Given the description of an element on the screen output the (x, y) to click on. 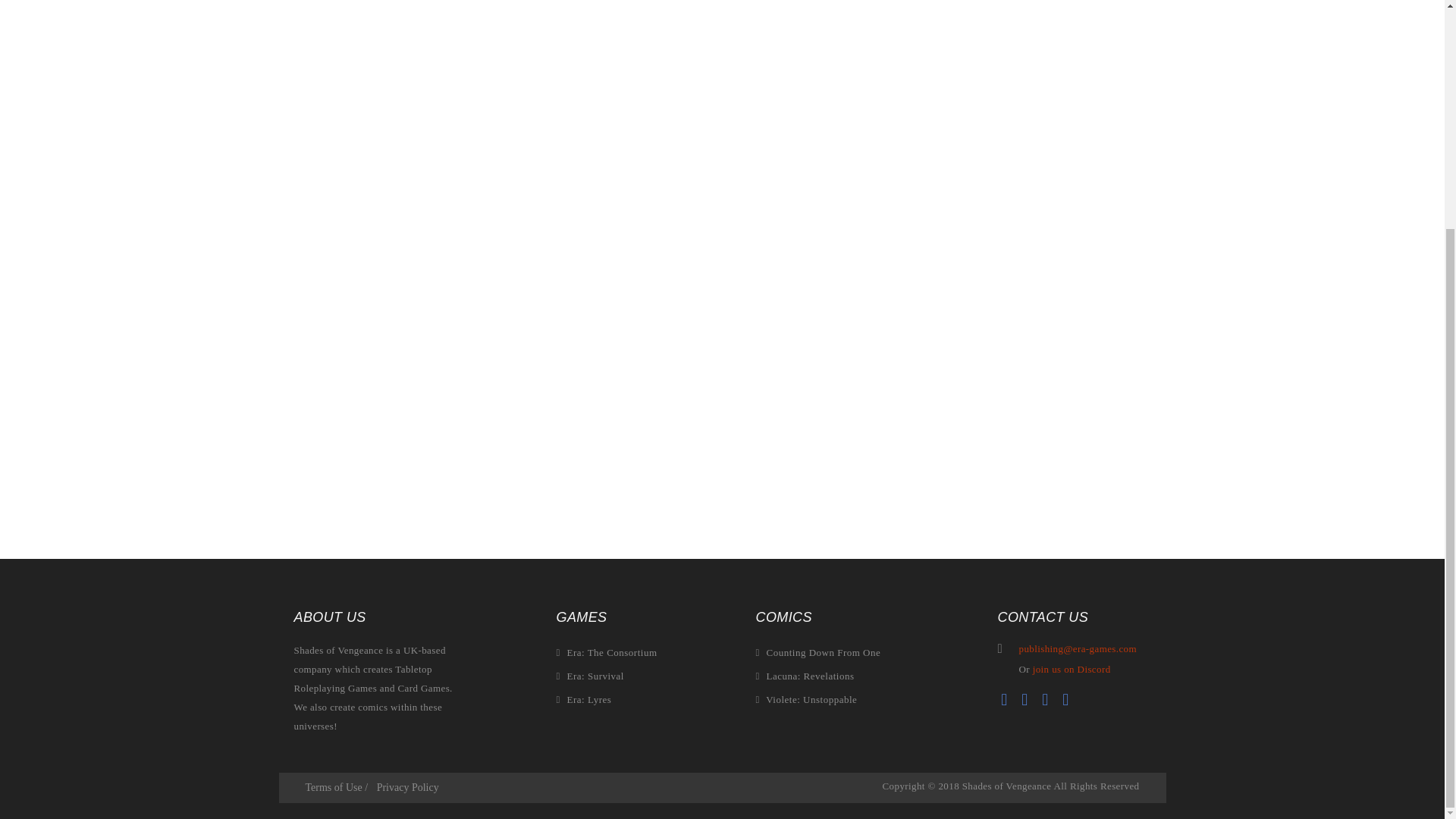
join us on Discord (1071, 668)
Era: Survival (607, 675)
Era: The Consortium (607, 652)
Counting Down From One (817, 652)
Violete: Unstoppable (817, 699)
Lacuna: Revelations (817, 675)
Era: Lyres (607, 699)
Privacy Policy (408, 787)
